Given the description of an element on the screen output the (x, y) to click on. 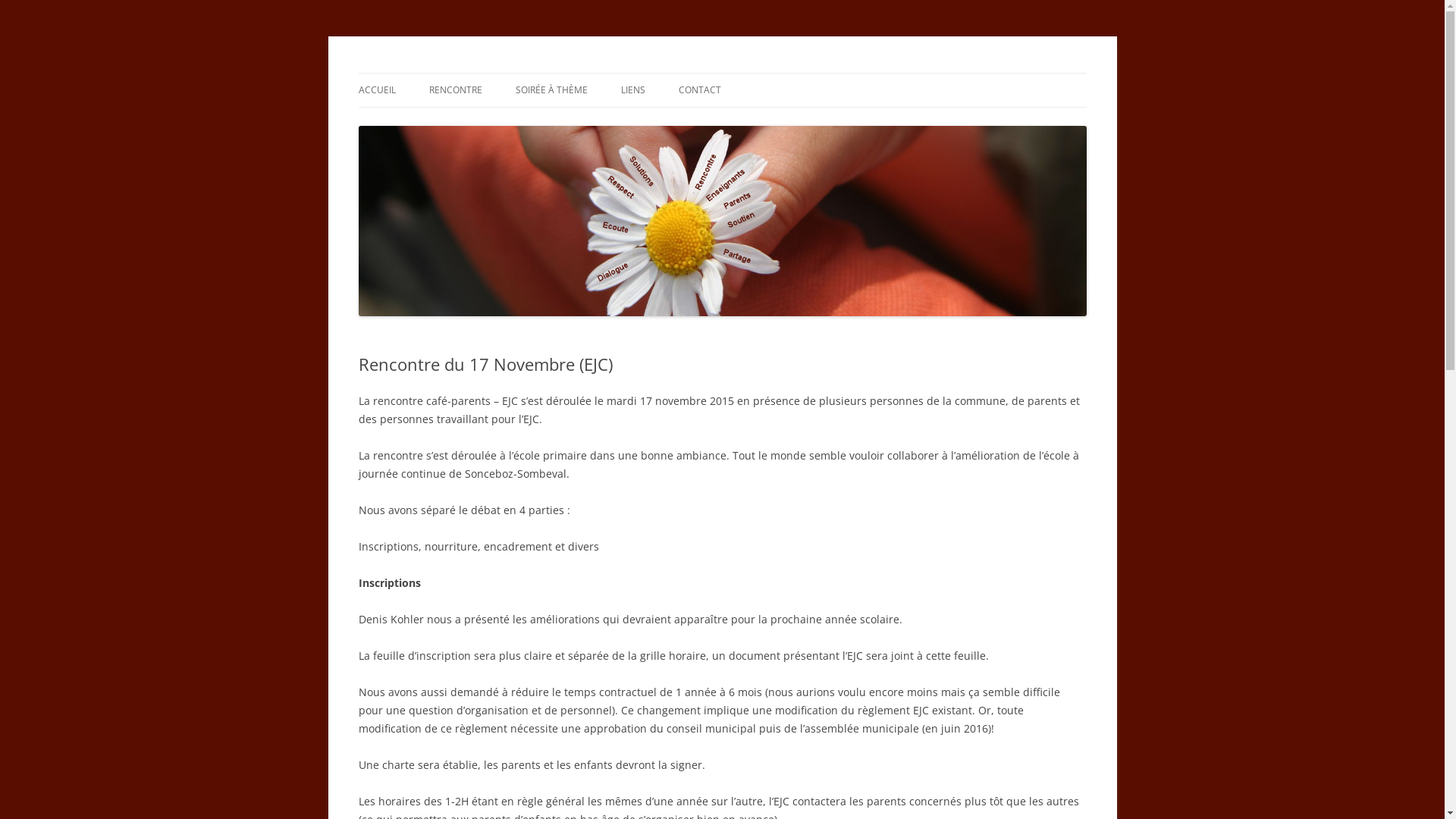
RENCONTRE Element type: text (455, 89)
Aller au contenu Element type: text (721, 72)
CONTACT Element type: text (698, 89)
LIENS Element type: text (632, 89)
ACCUEIL Element type: text (376, 89)
